Given the description of an element on the screen output the (x, y) to click on. 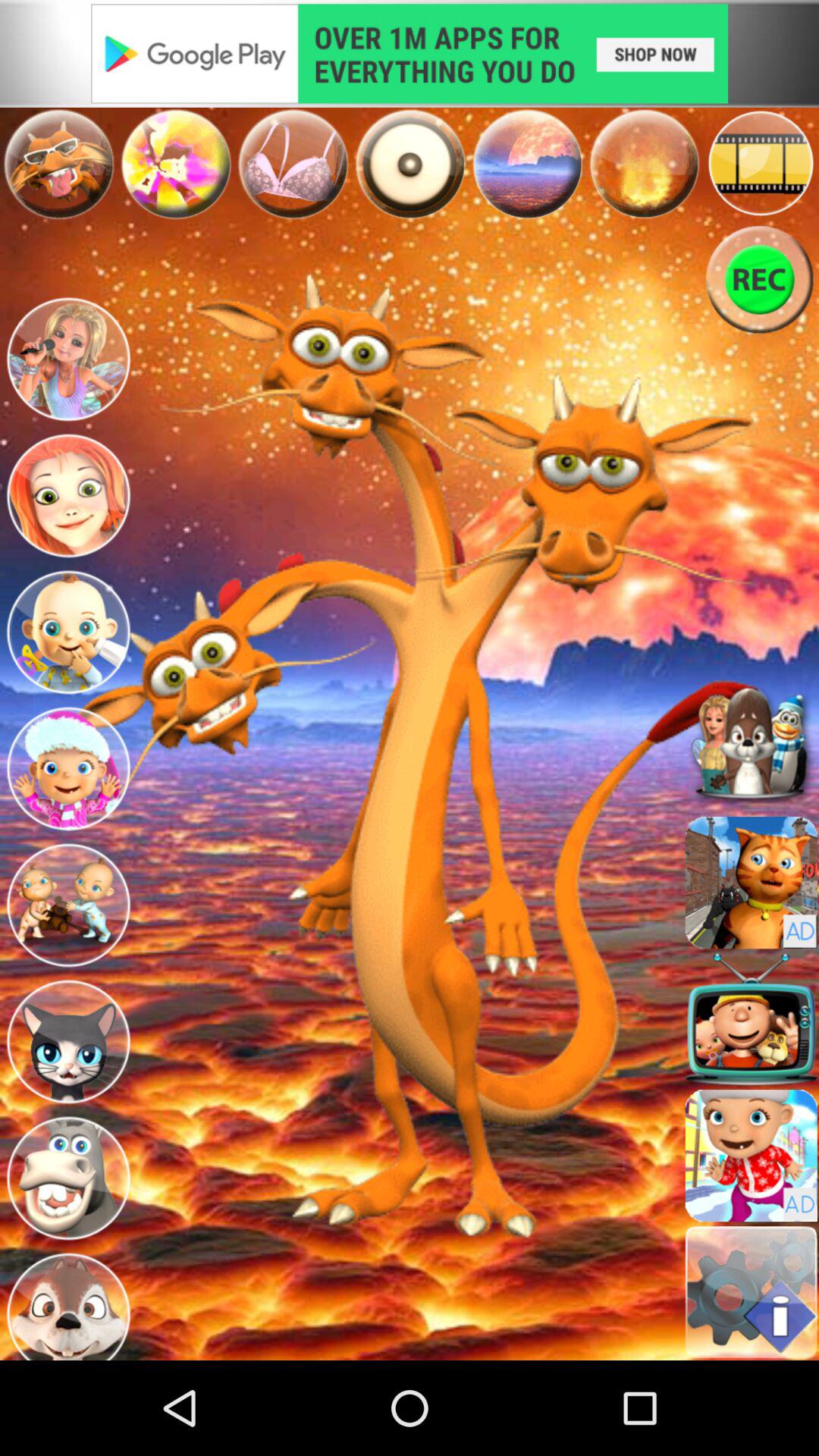
choose avatar/character (68, 495)
